Given the description of an element on the screen output the (x, y) to click on. 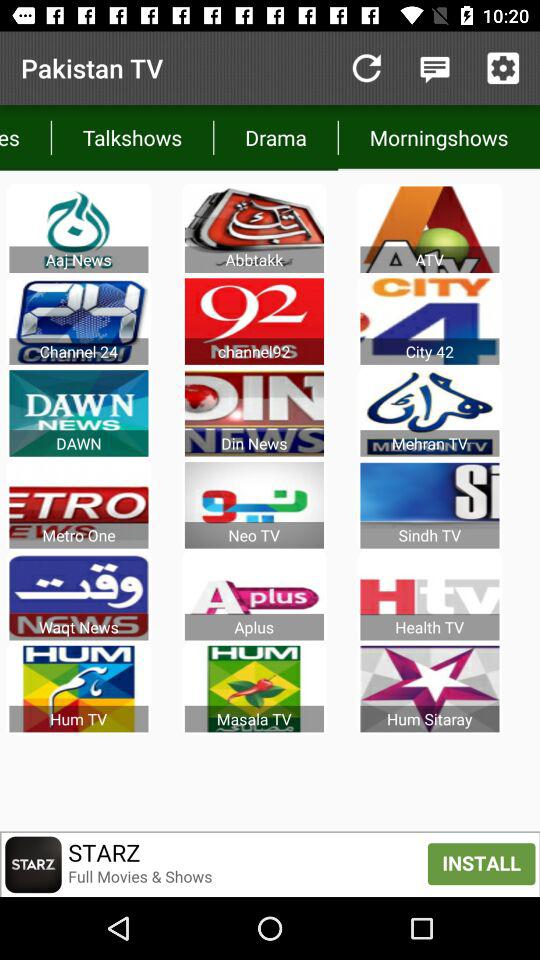
view settings (503, 67)
